Given the description of an element on the screen output the (x, y) to click on. 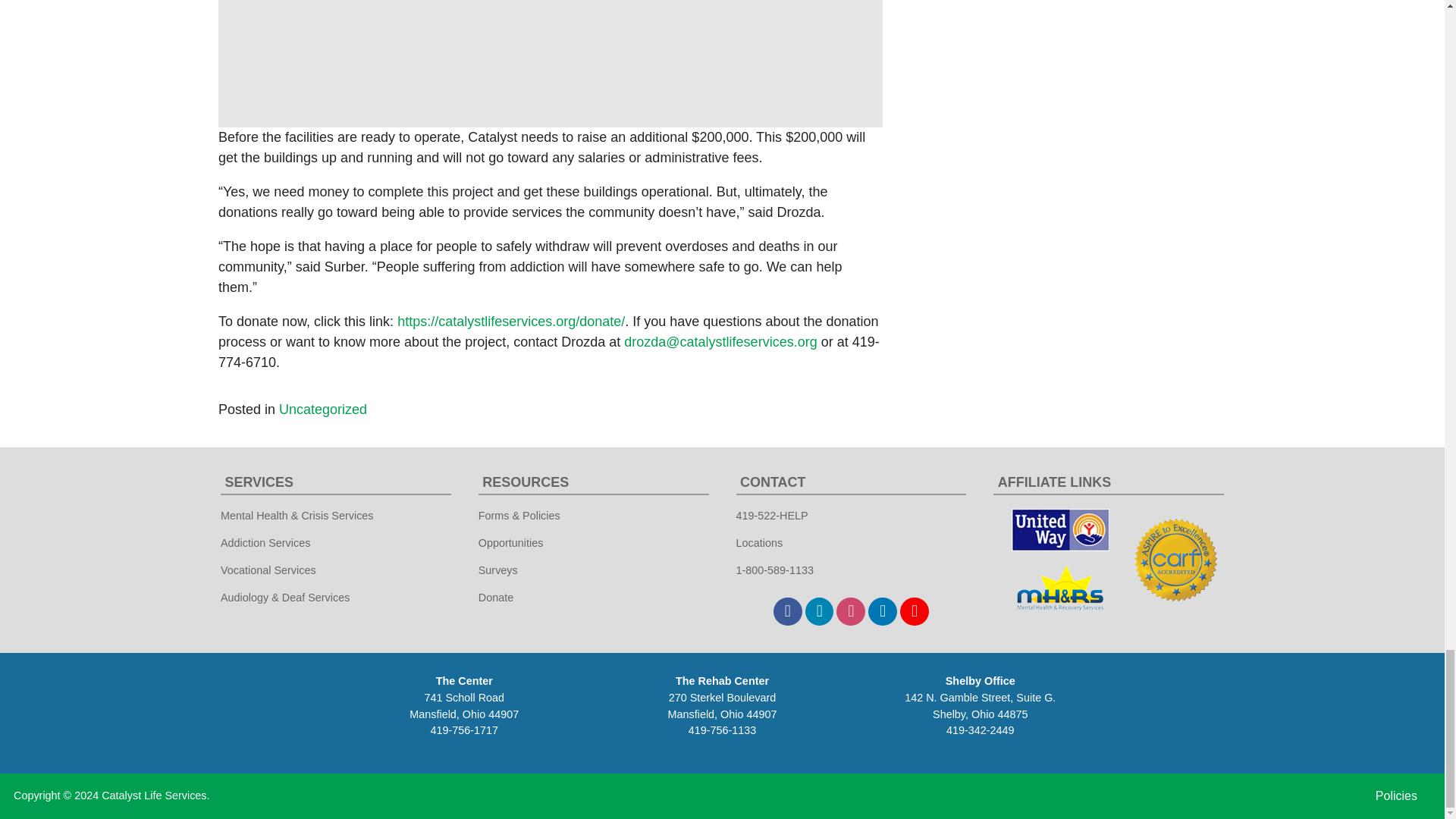
Facebook (787, 611)
Uncategorized (322, 409)
Twitter (819, 611)
LinkedIn (881, 611)
YouTube (913, 611)
Instagram (849, 611)
Policies (1396, 796)
